Given the description of an element on the screen output the (x, y) to click on. 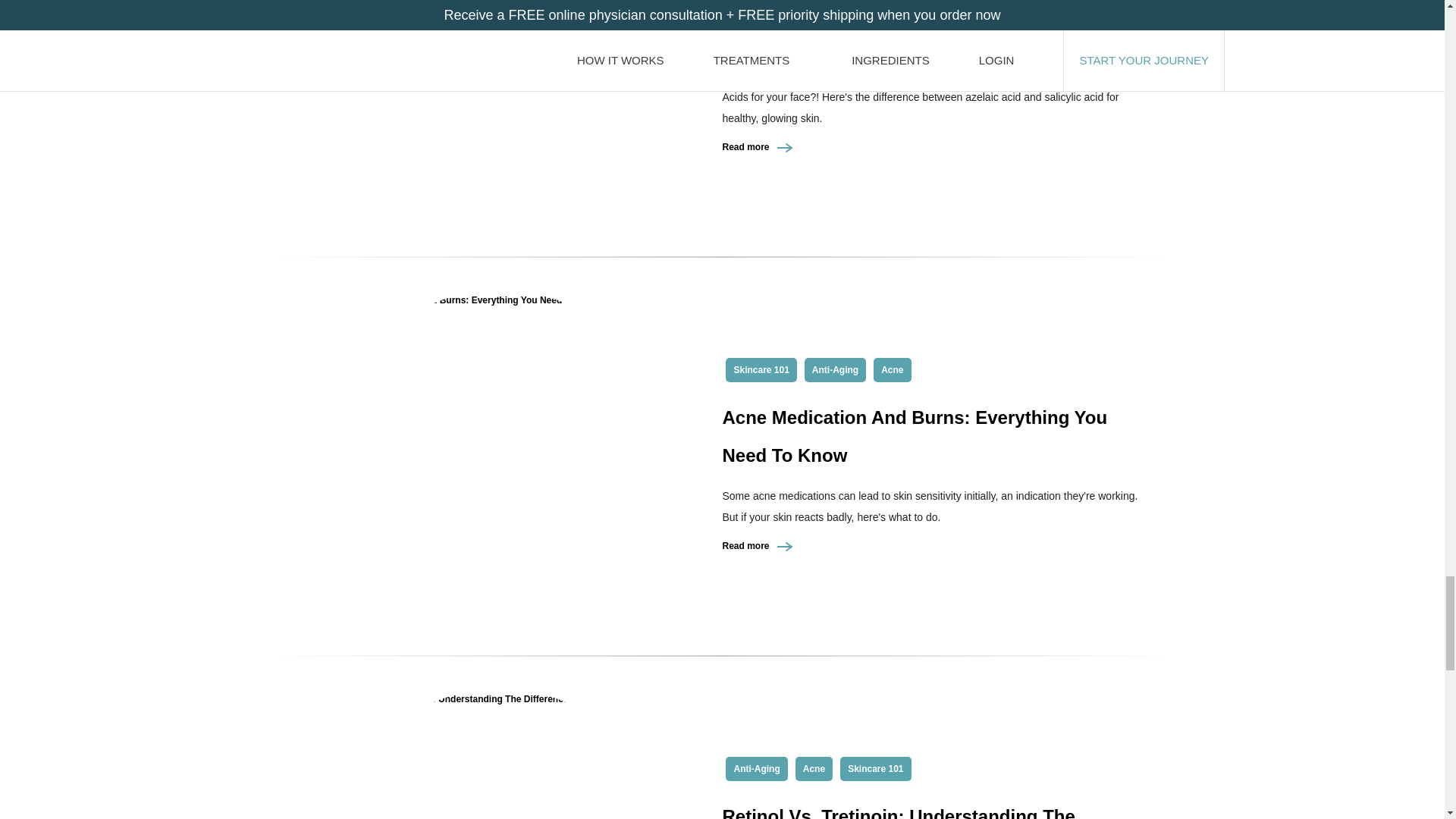
Retinol Vs. Tretinoin: Understanding The Differences (898, 812)
Read more   (758, 545)
Acne Medication And Burns: Everything You Need To Know (914, 436)
Read more   (758, 146)
